Given the description of an element on the screen output the (x, y) to click on. 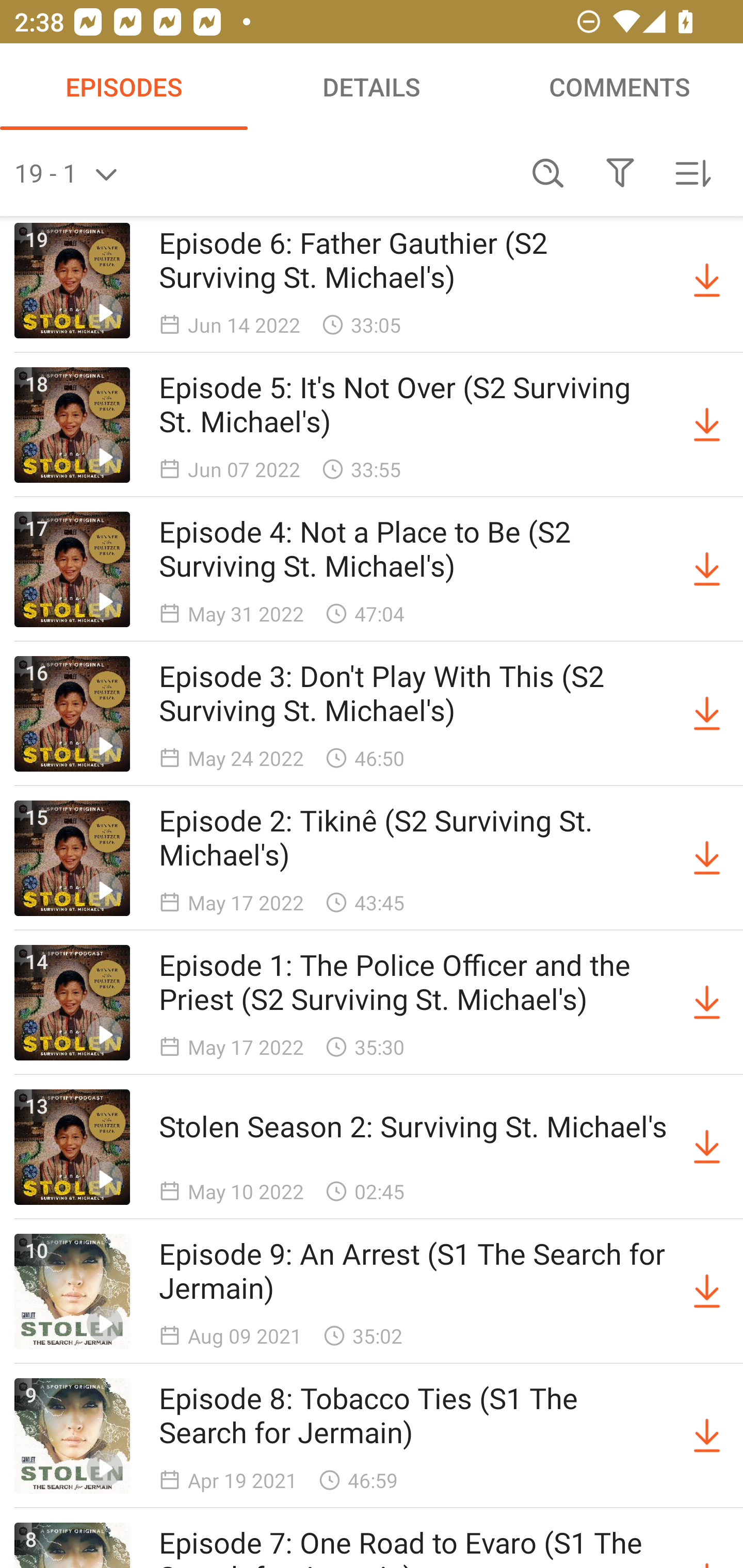
EPISODES (123, 86)
DETAILS (371, 86)
COMMENTS (619, 86)
19 - 1  (262, 173)
 Search (547, 173)
 (619, 173)
 Sorted by newest first (692, 173)
Download (706, 280)
Download (706, 424)
Download (706, 569)
Download (706, 713)
Download (706, 858)
Download (706, 1002)
Download (706, 1146)
Download (706, 1292)
Download (706, 1436)
